Given the description of an element on the screen output the (x, y) to click on. 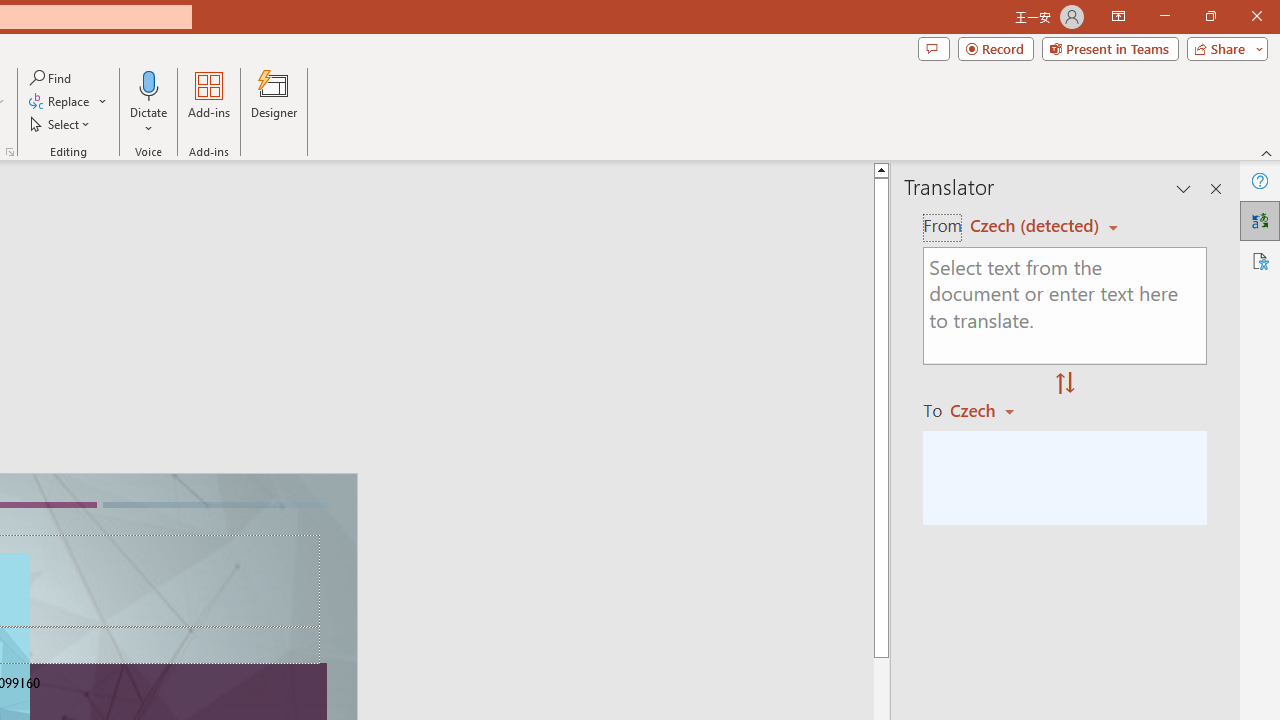
Swap "from" and "to" languages. (1065, 383)
Czech (detected) (1037, 225)
